Given the description of an element on the screen output the (x, y) to click on. 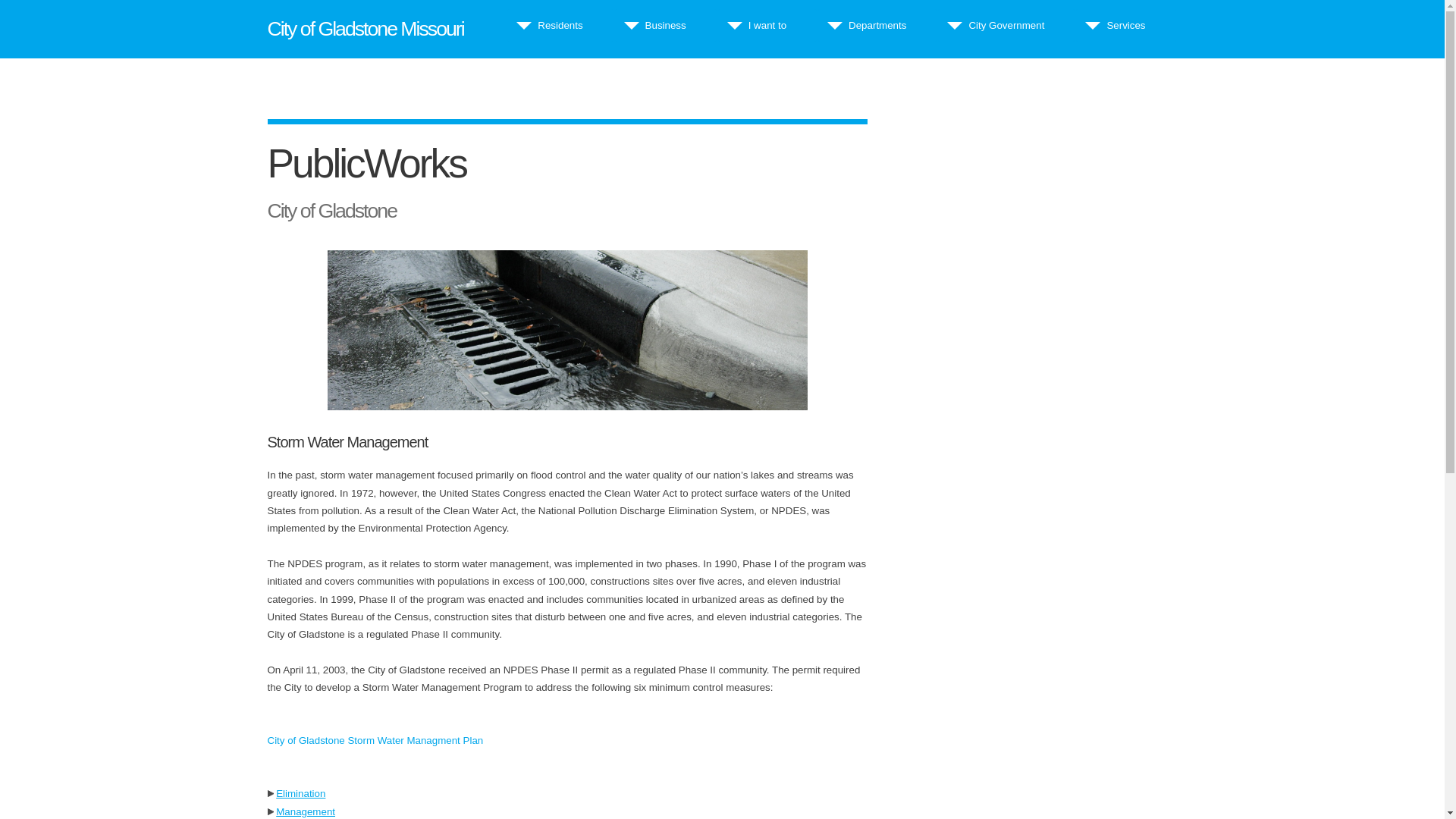
City of Gladstone Missouri (364, 28)
I want to (766, 25)
Business (665, 25)
Residents (559, 25)
